Given the description of an element on the screen output the (x, y) to click on. 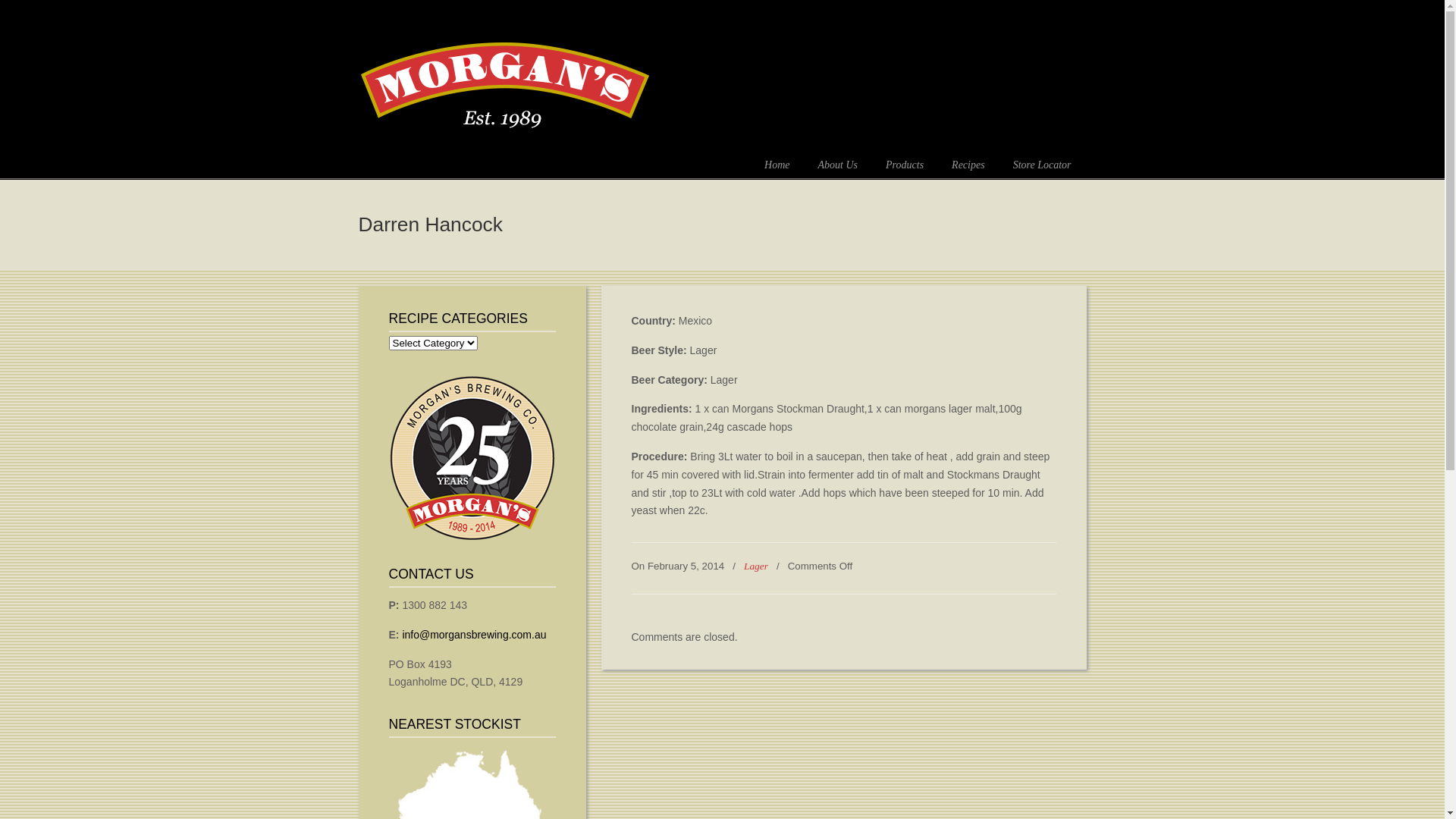
Morgans Brewing Element type: text (503, 79)
About Us Element type: text (838, 165)
Store Locator Element type: text (1041, 165)
Lager Element type: text (755, 565)
Products Element type: text (904, 165)
Recipes Element type: text (968, 165)
Home Element type: text (776, 165)
info@morgansbrewing.com.au Element type: text (473, 634)
